Given the description of an element on the screen output the (x, y) to click on. 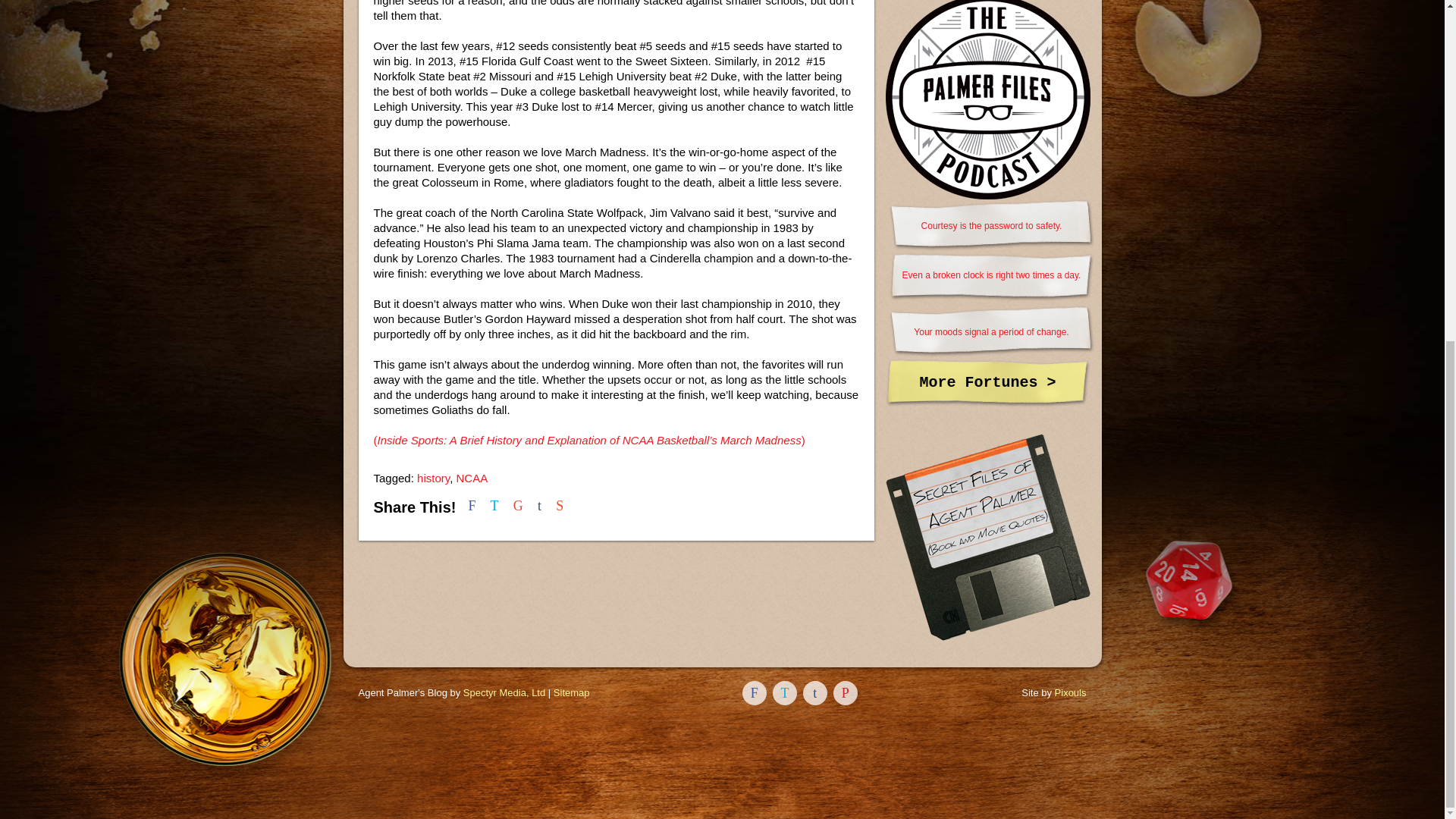
NCAA (471, 477)
F (754, 692)
Spectyr Media, Ltd (503, 692)
P (844, 692)
Pixouls (1070, 692)
Sitemap (571, 692)
Even a broken clock is right two times a day. (990, 278)
Your moods signal a period of change. (990, 331)
Tumblr (815, 692)
Facebook (754, 692)
Pinterest (844, 692)
T (784, 692)
Courtesy is the password to safety. (990, 225)
history (432, 477)
Pixouls (1070, 692)
